Given the description of an element on the screen output the (x, y) to click on. 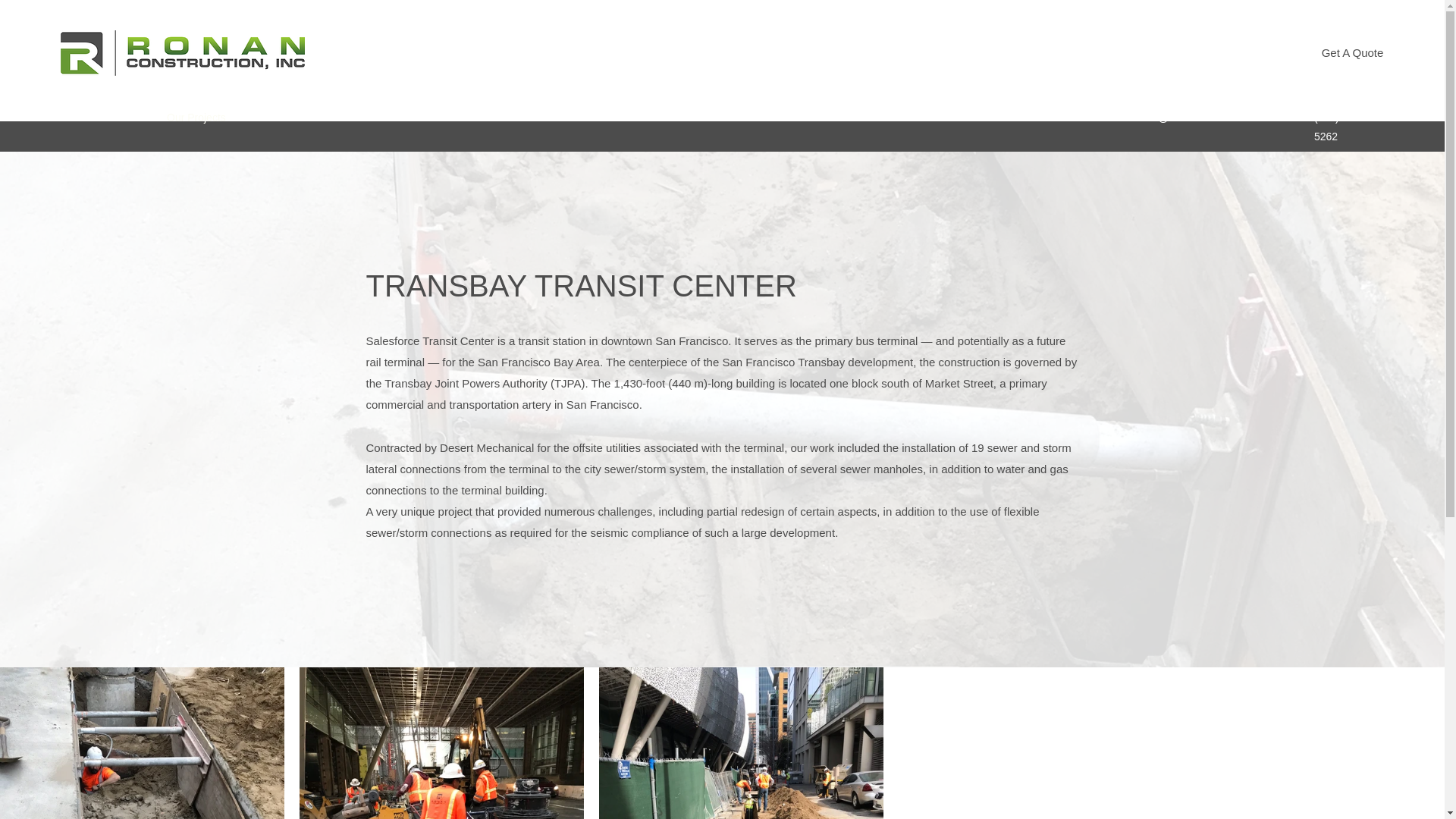
Clients (260, 117)
About Us (127, 117)
Home (74, 117)
Our Projects (196, 117)
Contact Us (320, 117)
Get A Quote (1352, 52)
